Given the description of an element on the screen output the (x, y) to click on. 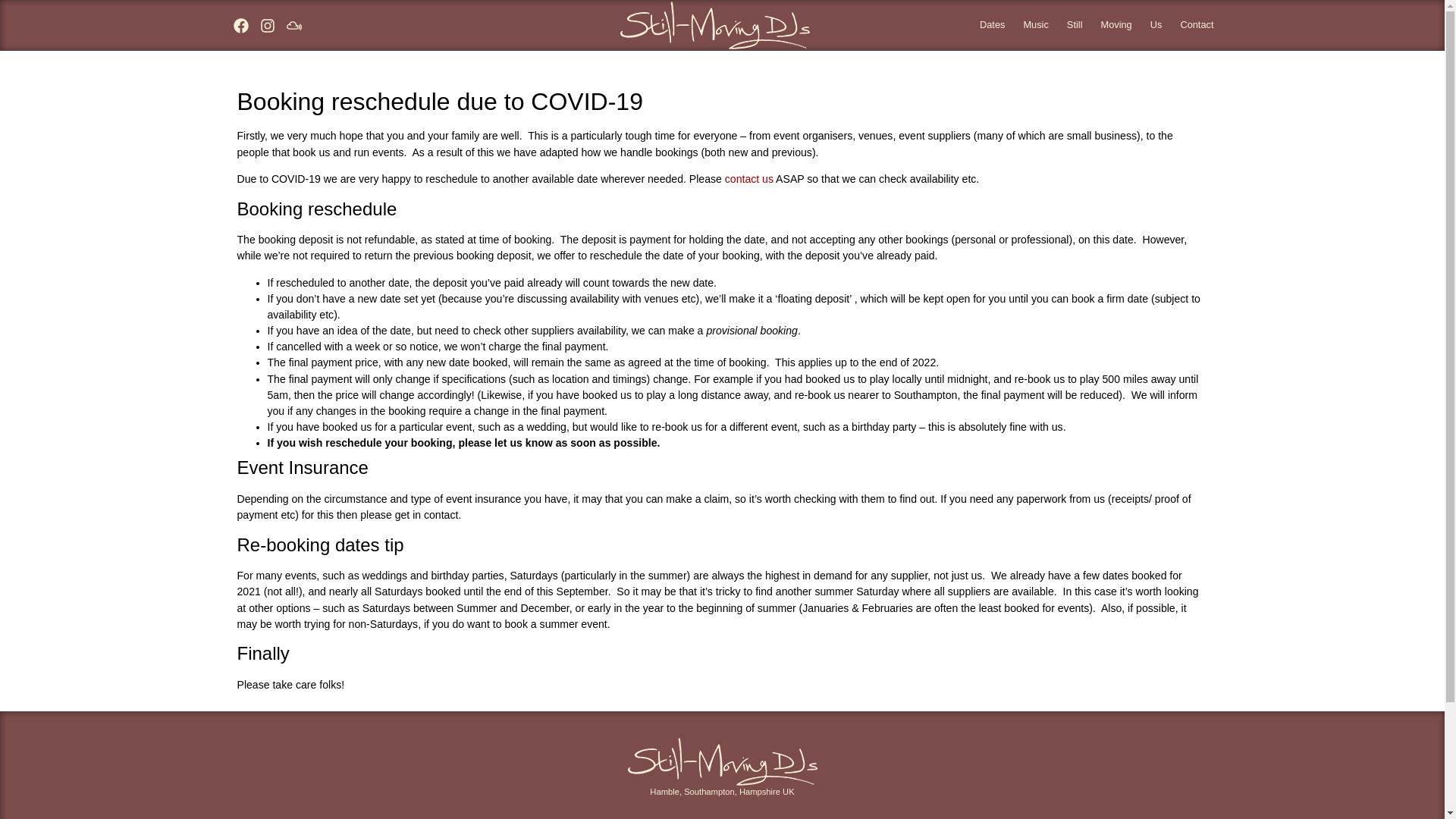
Book us (1196, 25)
Dates (992, 25)
Still (1075, 25)
About Still-Moving (1156, 25)
Have a listen! (1035, 25)
Video (1115, 25)
Moving (1115, 25)
contact us (749, 178)
Music (1035, 25)
Contact (1196, 25)
